Given the description of an element on the screen output the (x, y) to click on. 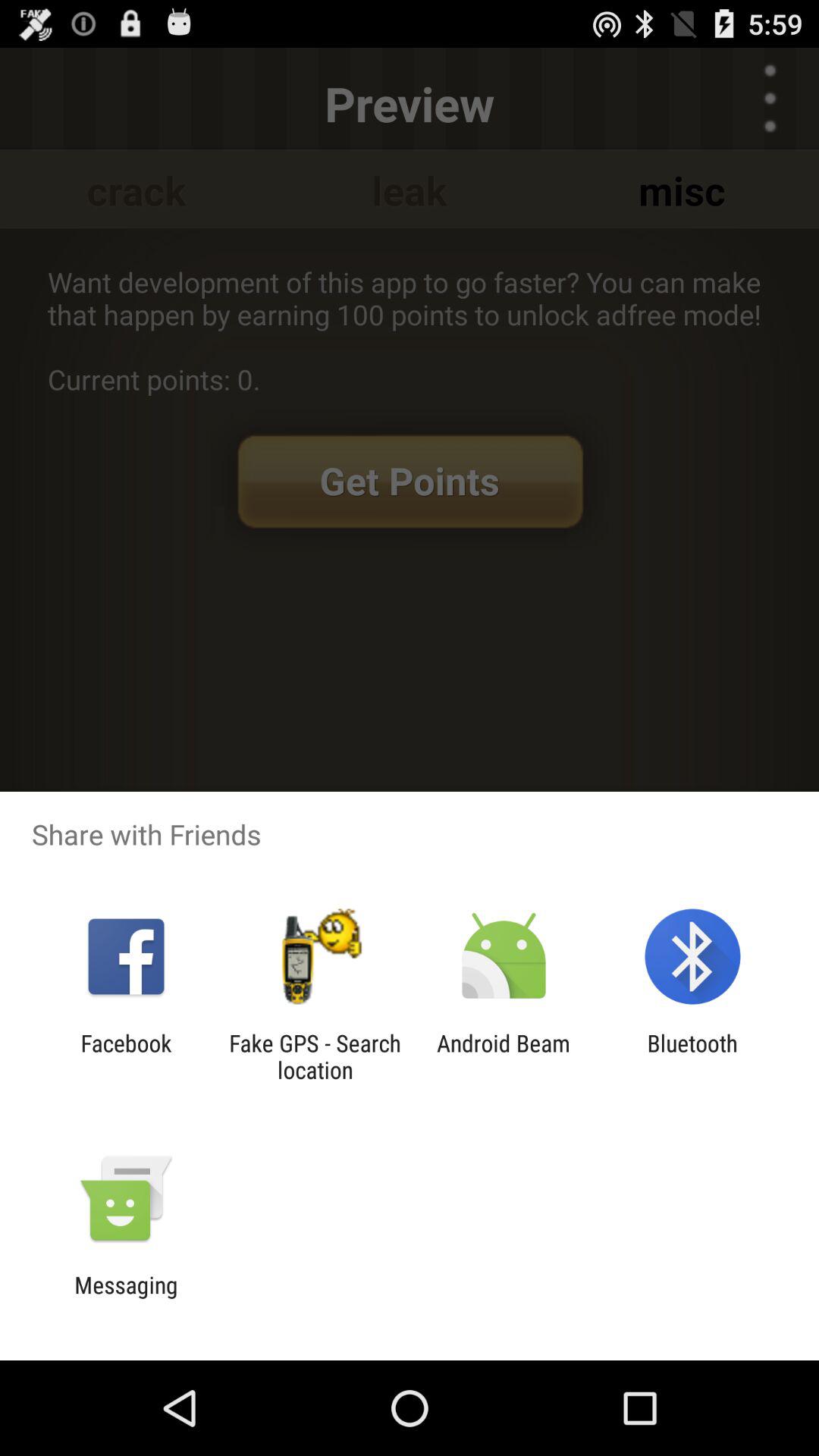
flip until bluetooth icon (692, 1056)
